Given the description of an element on the screen output the (x, y) to click on. 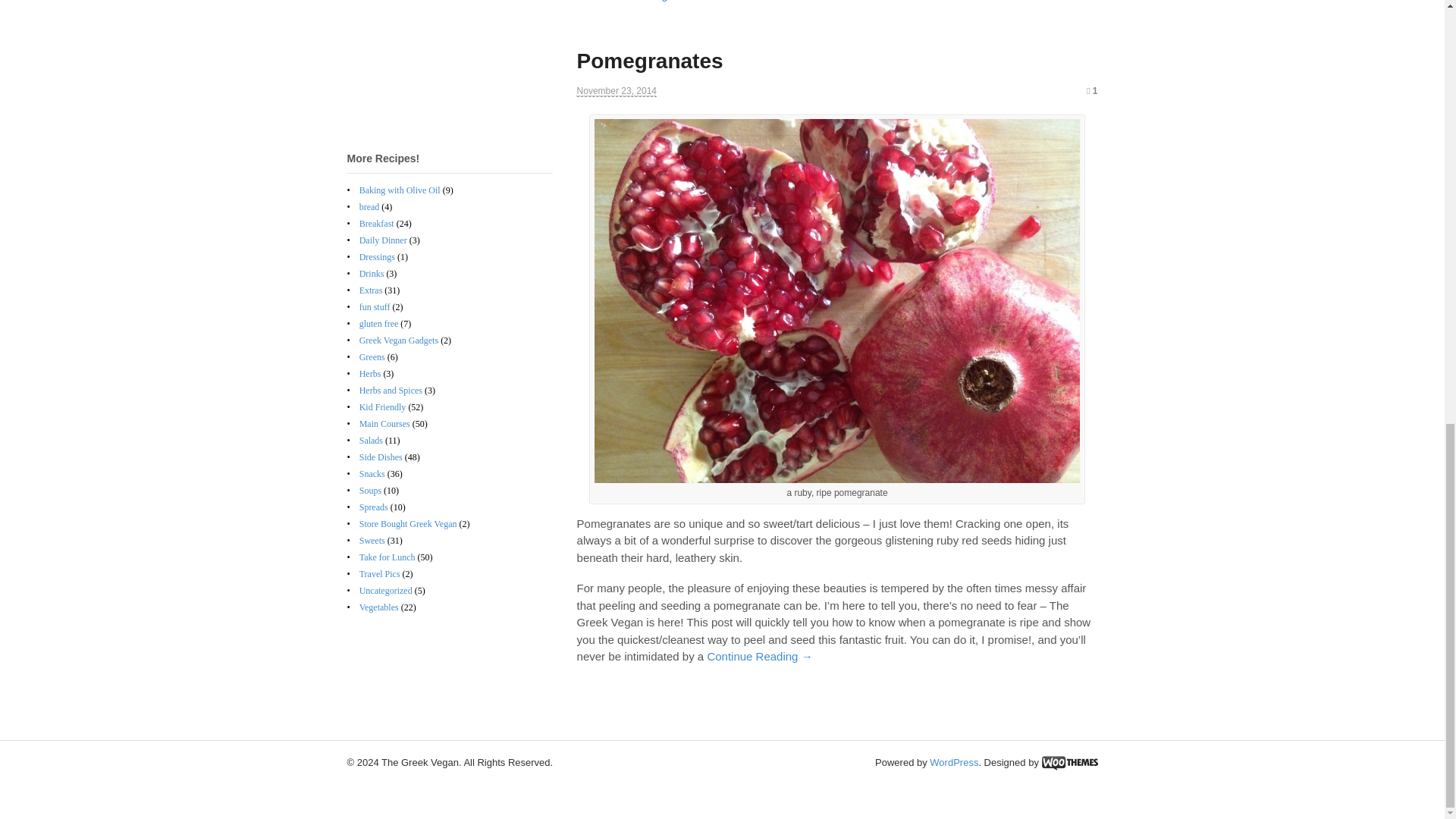
Baking with Olive Oil (400, 190)
Daily Dinner (383, 240)
Herbs (370, 373)
Salads (370, 439)
Greens (372, 357)
Dressings (376, 256)
Drinks (371, 273)
fun stuff (374, 307)
Pomegranates (649, 60)
Breakfast (376, 223)
WordPress (954, 762)
bread (369, 206)
gluten free (378, 323)
Greek Vegan Gadgets (398, 339)
Kid Friendly (382, 407)
